Given the description of an element on the screen output the (x, y) to click on. 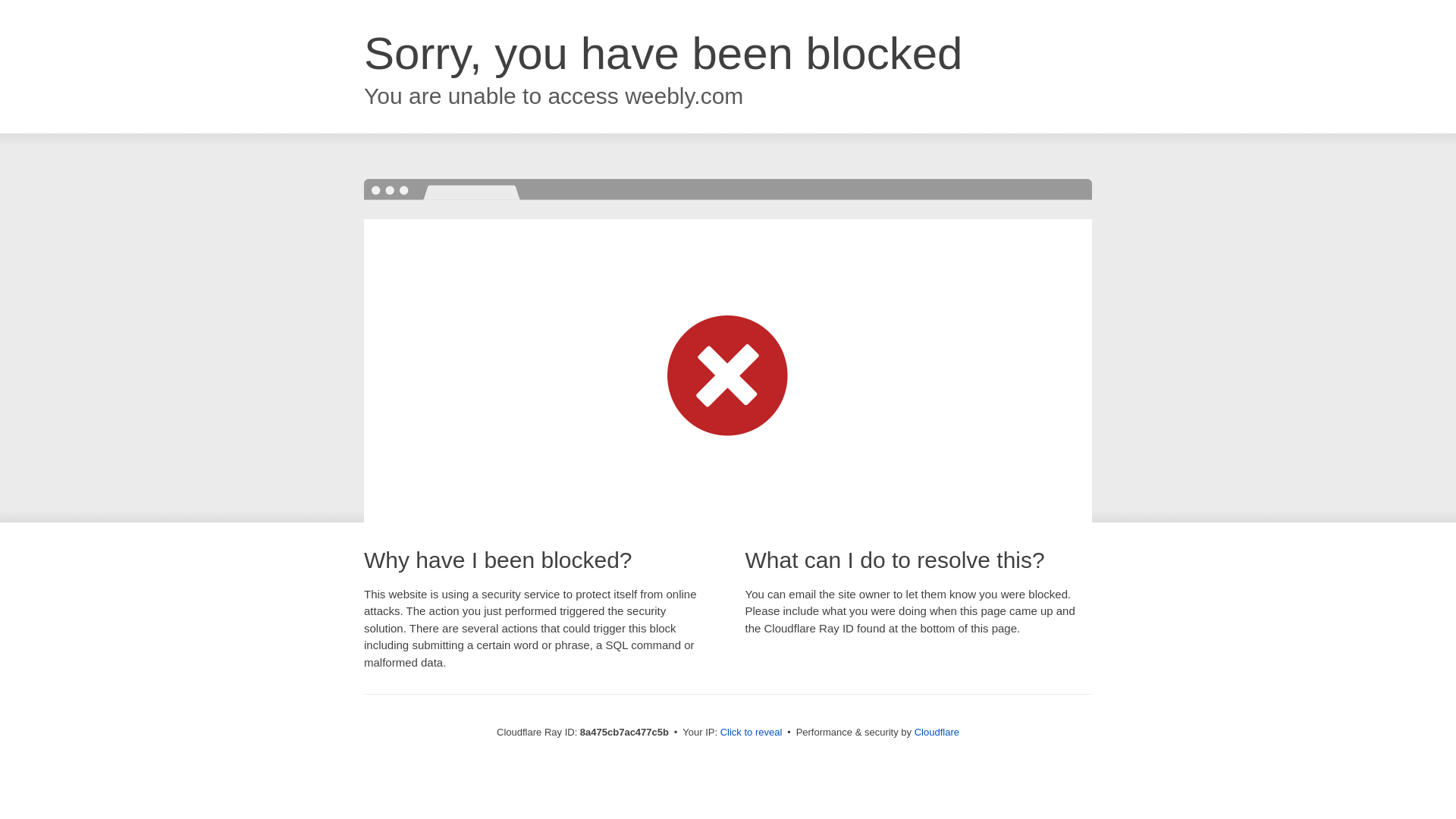
Click to reveal (751, 732)
Cloudflare (936, 731)
